Given the description of an element on the screen output the (x, y) to click on. 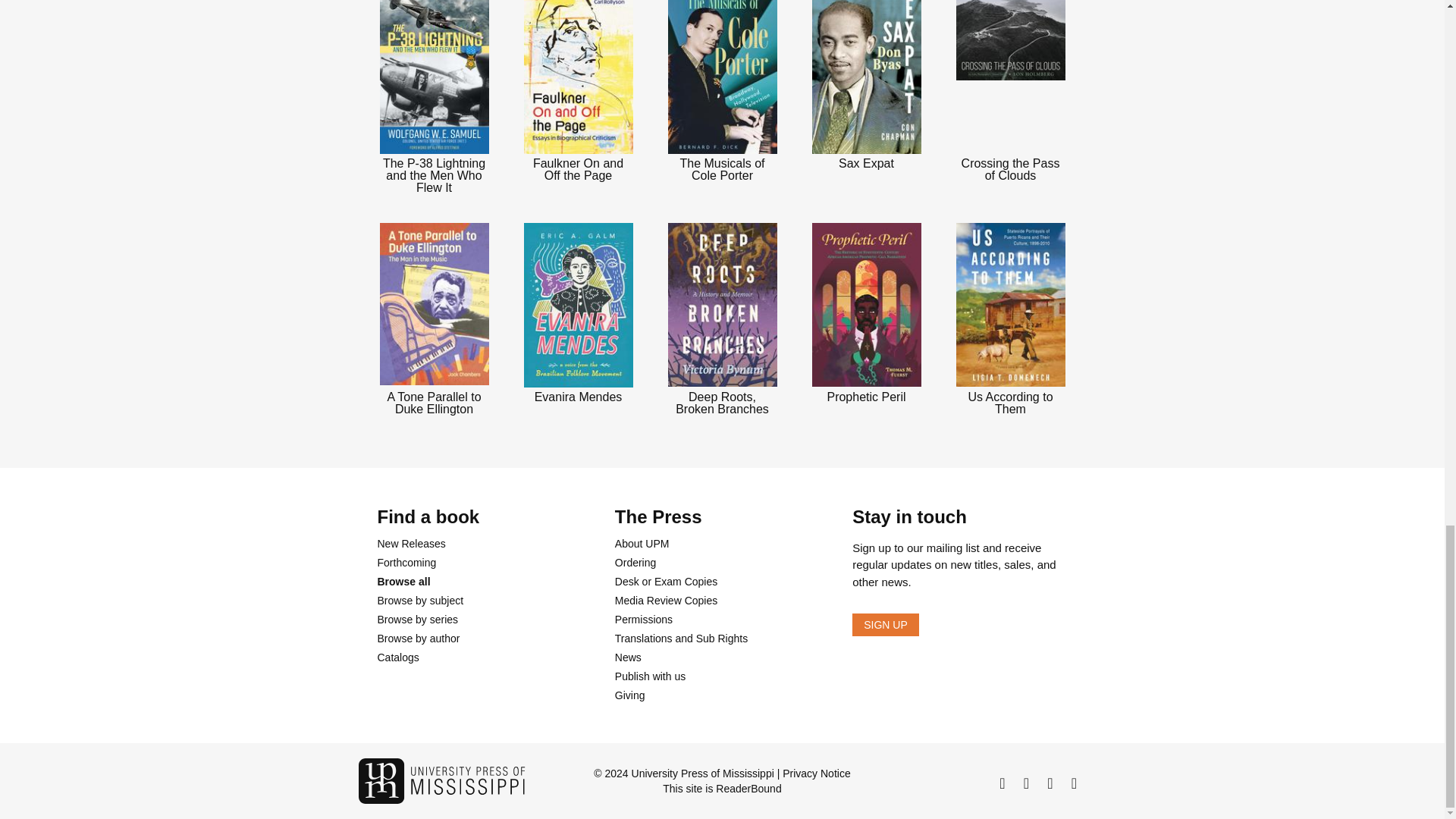
View Us According to Them (1009, 318)
View The P-38 Lightning and the Men Who Flew It (433, 97)
View The Musicals of Cole Porter (722, 90)
View Deep Roots, Broken Branches (722, 318)
View Sax Expat (865, 84)
View Faulkner On and Off the Page (577, 90)
View A Tone Parallel to Duke Ellington (433, 318)
View Prophetic Peril (865, 312)
View Evanira Mendes (577, 312)
View Crossing the Pass of Clouds (1009, 90)
